Given the description of an element on the screen output the (x, y) to click on. 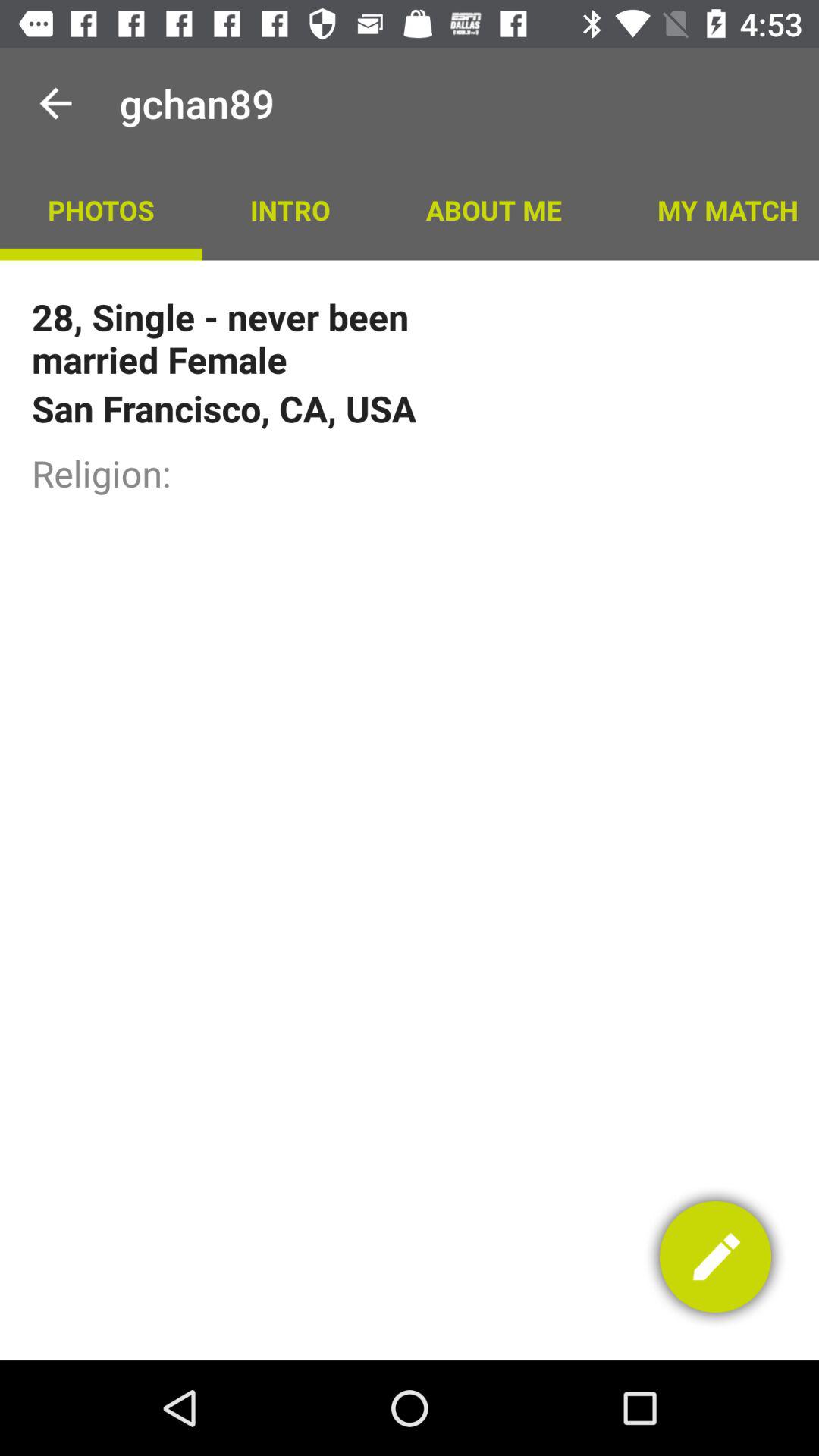
jump until the my match app (714, 209)
